Given the description of an element on the screen output the (x, y) to click on. 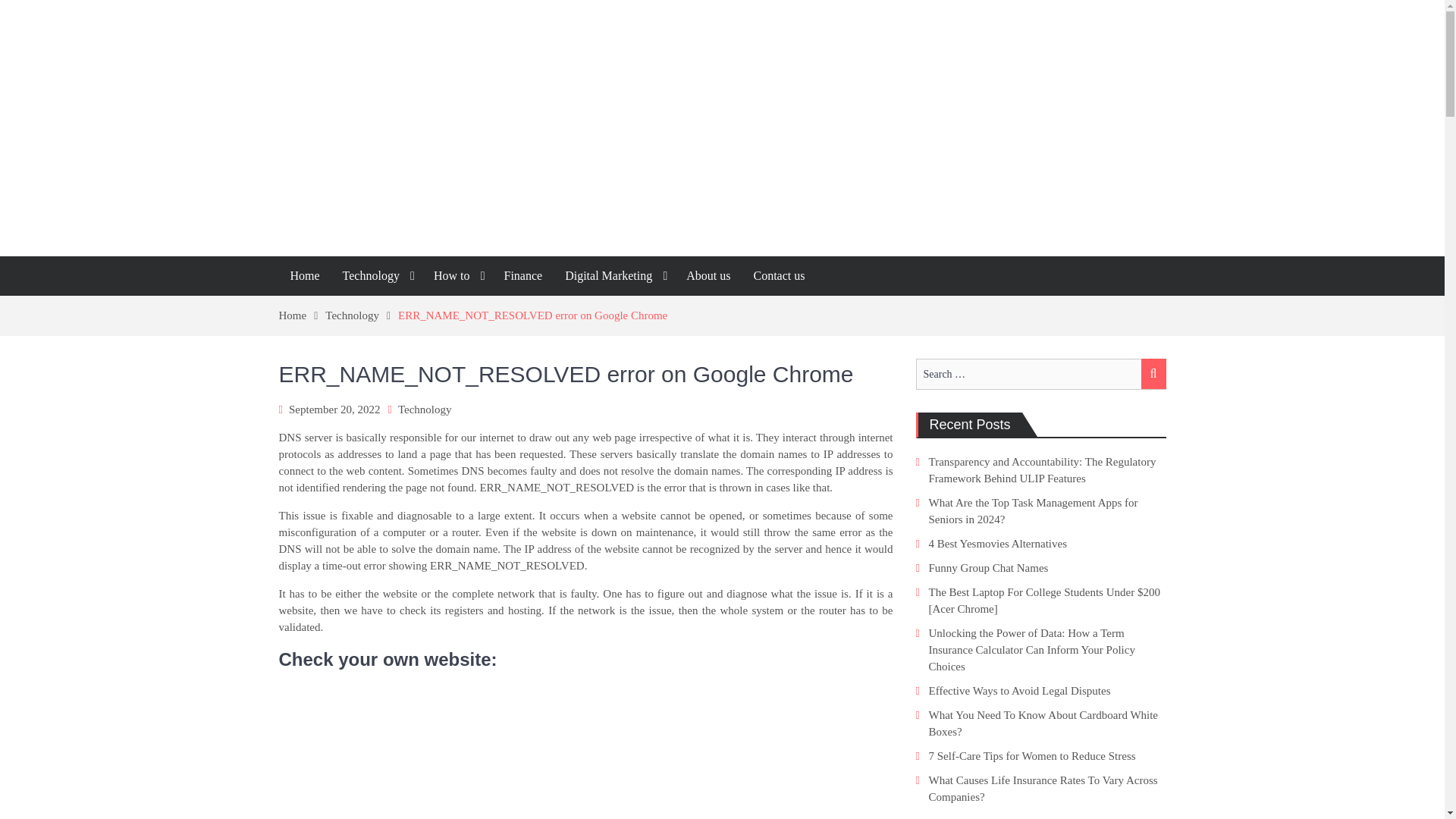
September 20, 2022 (334, 409)
Contact us (778, 275)
Technology (360, 315)
Home (305, 275)
Technology (424, 409)
How to (457, 275)
Home (302, 315)
Technology (376, 275)
Search (1153, 373)
Finance (522, 275)
Digital Marketing (614, 275)
About us (708, 275)
What Are the Top Task Management Apps for Seniors in 2024? (1032, 510)
